Given the description of an element on the screen output the (x, y) to click on. 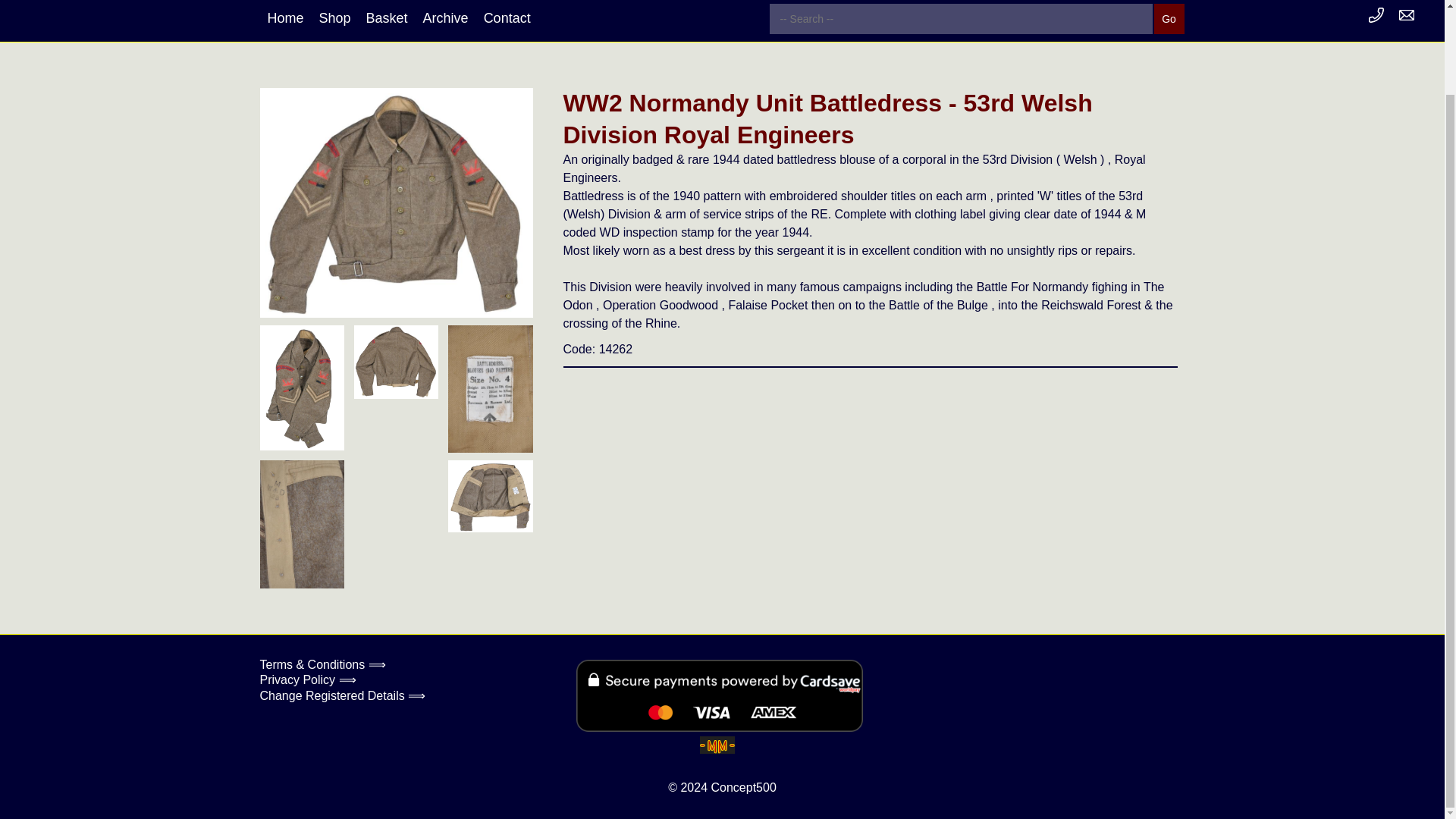
Go (1169, 19)
Archive (445, 18)
Concept500 (743, 787)
Contact (507, 18)
Home (285, 18)
Cardsave (719, 696)
Go (1169, 19)
Basket (386, 18)
Shop (334, 18)
